Given the description of an element on the screen output the (x, y) to click on. 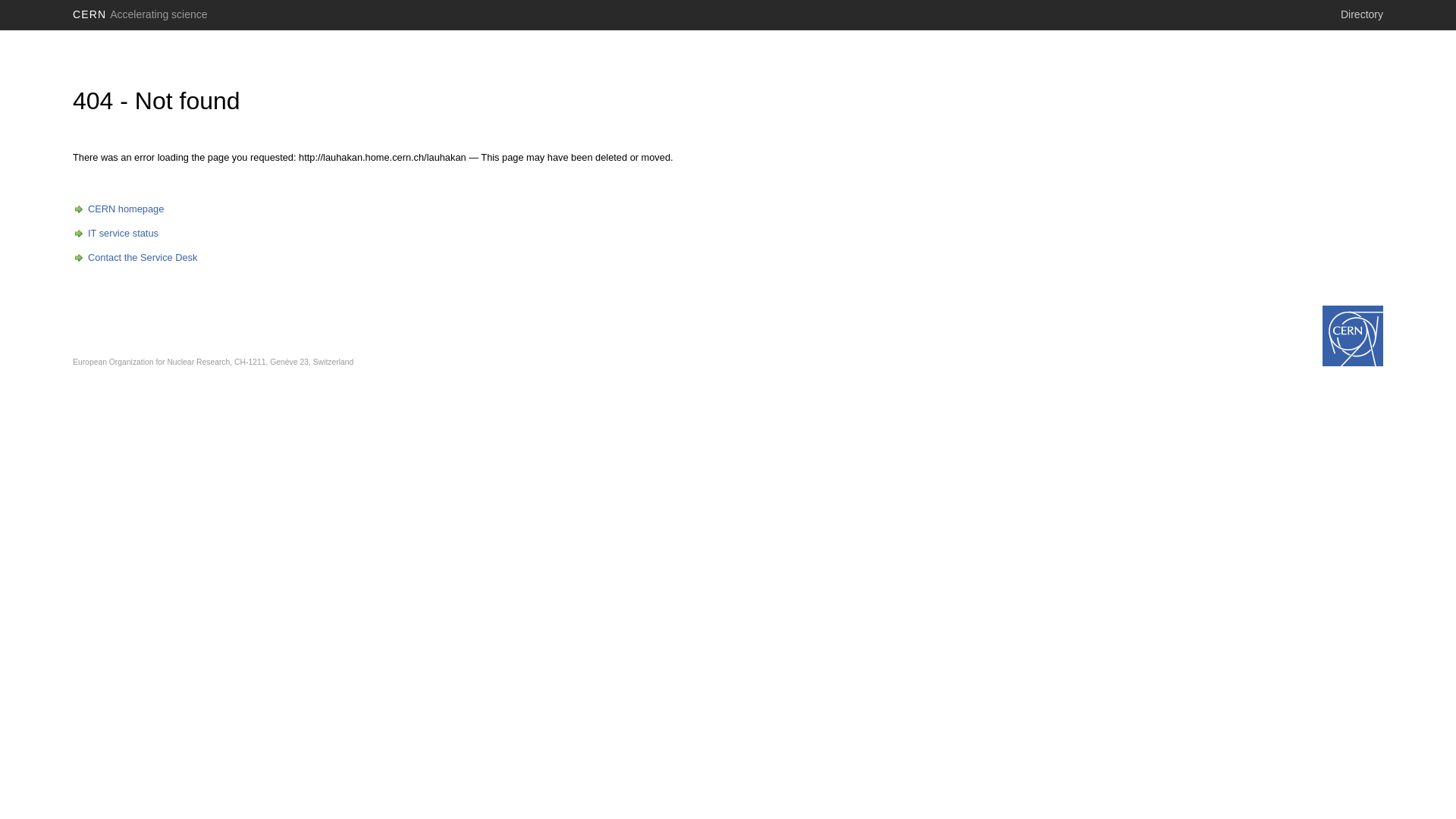
IT service status Element type: text (115, 232)
Directory Element type: text (1361, 14)
Contact the Service Desk Element type: text (134, 257)
CERN Accelerating science Element type: text (139, 14)
CERN homepage Element type: text (117, 208)
www.cern.ch Element type: hover (1352, 335)
